Given the description of an element on the screen output the (x, y) to click on. 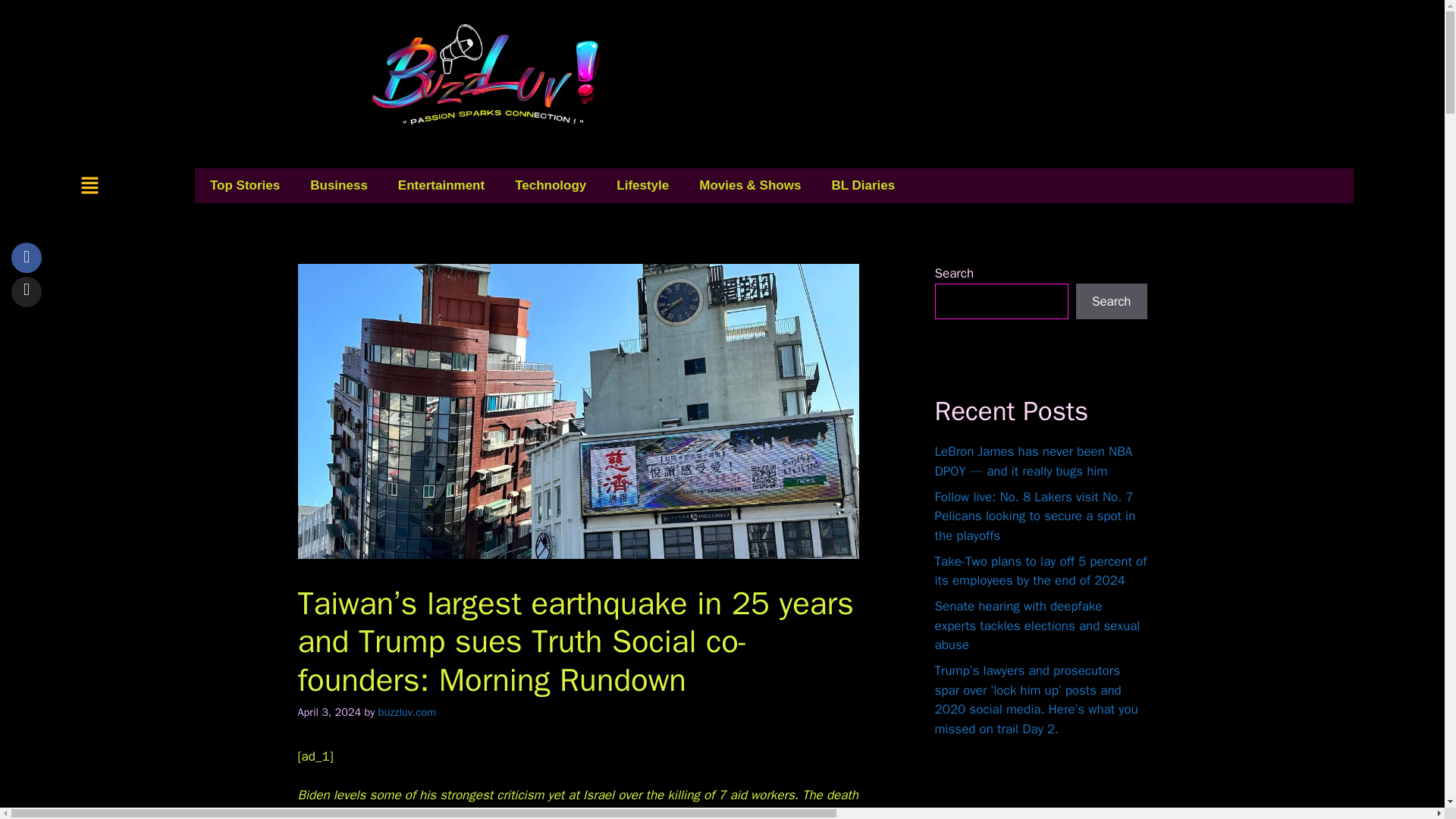
Business (338, 185)
Technology (550, 185)
View all posts by buzzluv.com (406, 712)
BL Diaries (862, 185)
buzzluv.com (406, 712)
Entertainment (440, 185)
Top Stories (245, 185)
Lifestyle (642, 185)
